Given the description of an element on the screen output the (x, y) to click on. 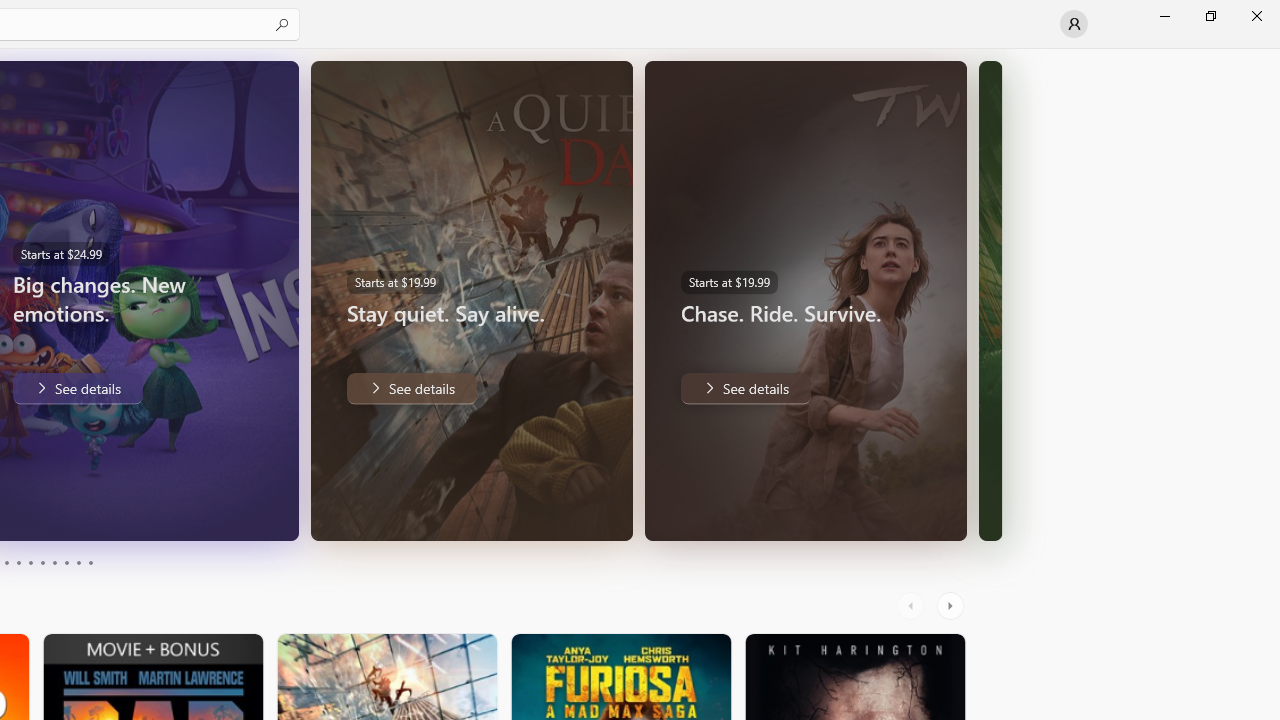
AutomationID: LeftScrollButton (913, 606)
Page 10 (90, 562)
Minimize Microsoft Store (1164, 15)
Page 9 (77, 562)
AutomationID: RightScrollButton (952, 606)
Restore Microsoft Store (1210, 15)
Page 5 (29, 562)
AutomationID: Image (989, 300)
Page 8 (65, 562)
Page 7 (54, 562)
User profile (1073, 24)
Page 3 (5, 562)
